Given the description of an element on the screen output the (x, y) to click on. 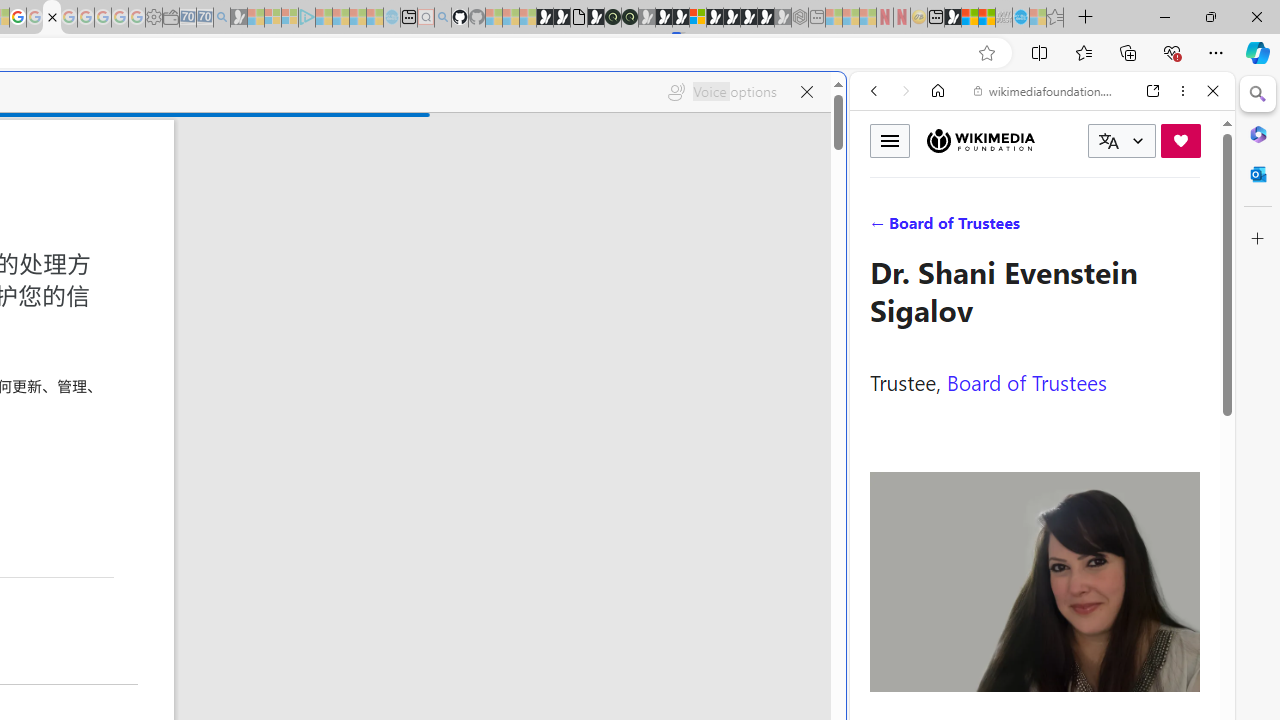
Voice options (721, 92)
